Given the description of an element on the screen output the (x, y) to click on. 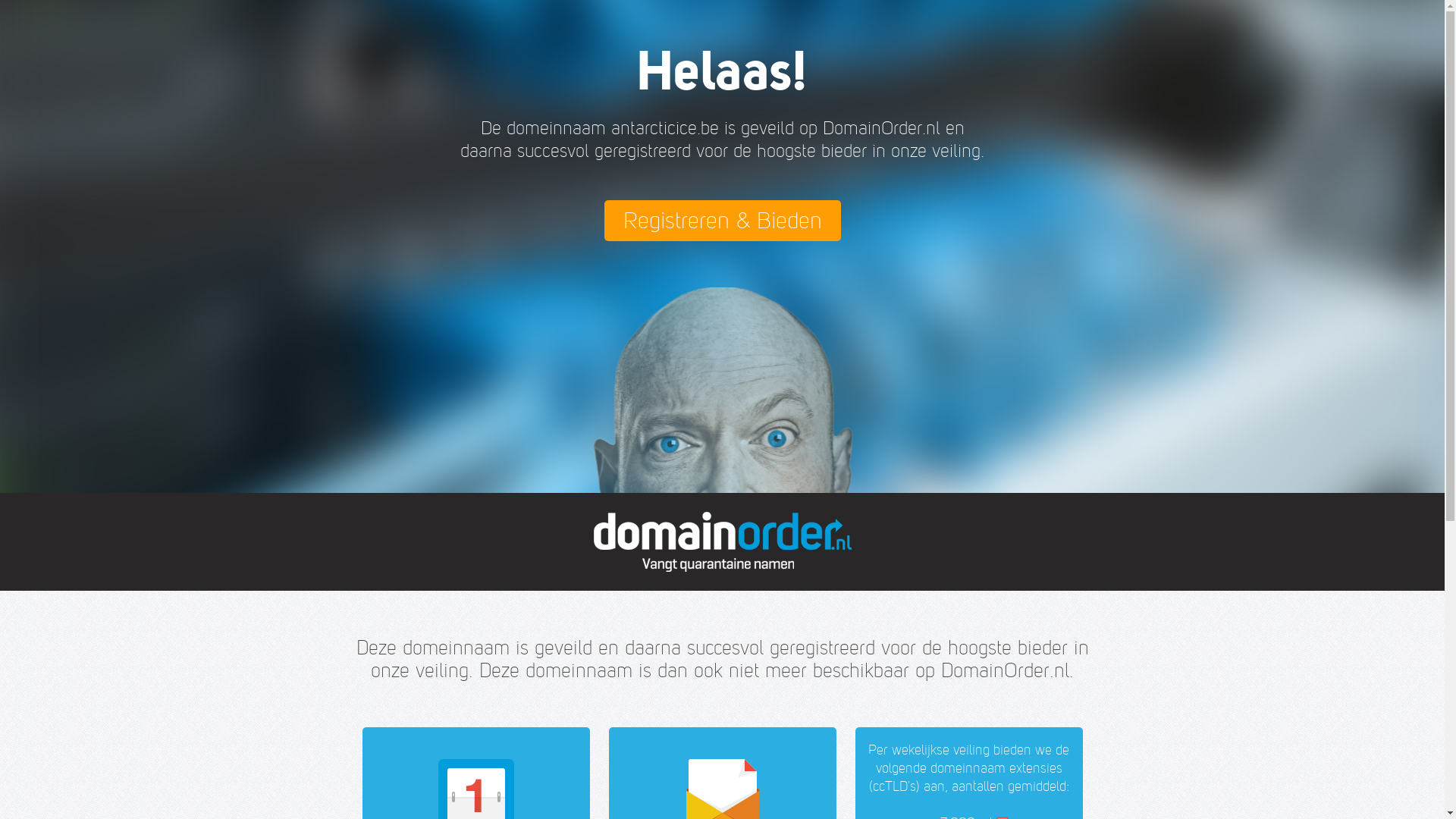
Registreren & Bieden Element type: text (721, 220)
